Given the description of an element on the screen output the (x, y) to click on. 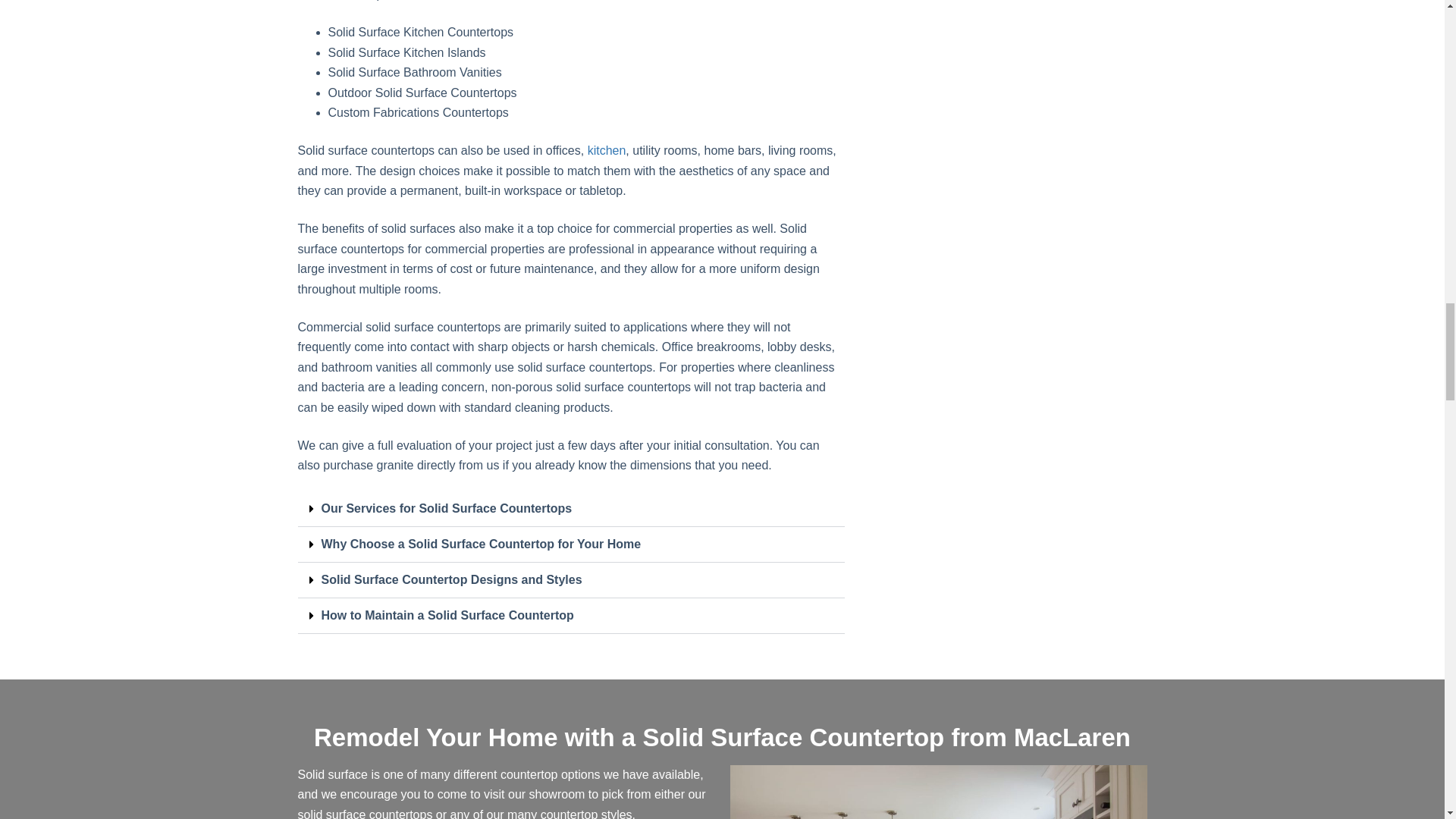
Our Services for Solid Surface Countertops (446, 508)
kitchen (607, 150)
Solid Surface Countertops 13 (938, 791)
Why Choose a Solid Surface Countertop for Your Home (481, 543)
